Given the description of an element on the screen output the (x, y) to click on. 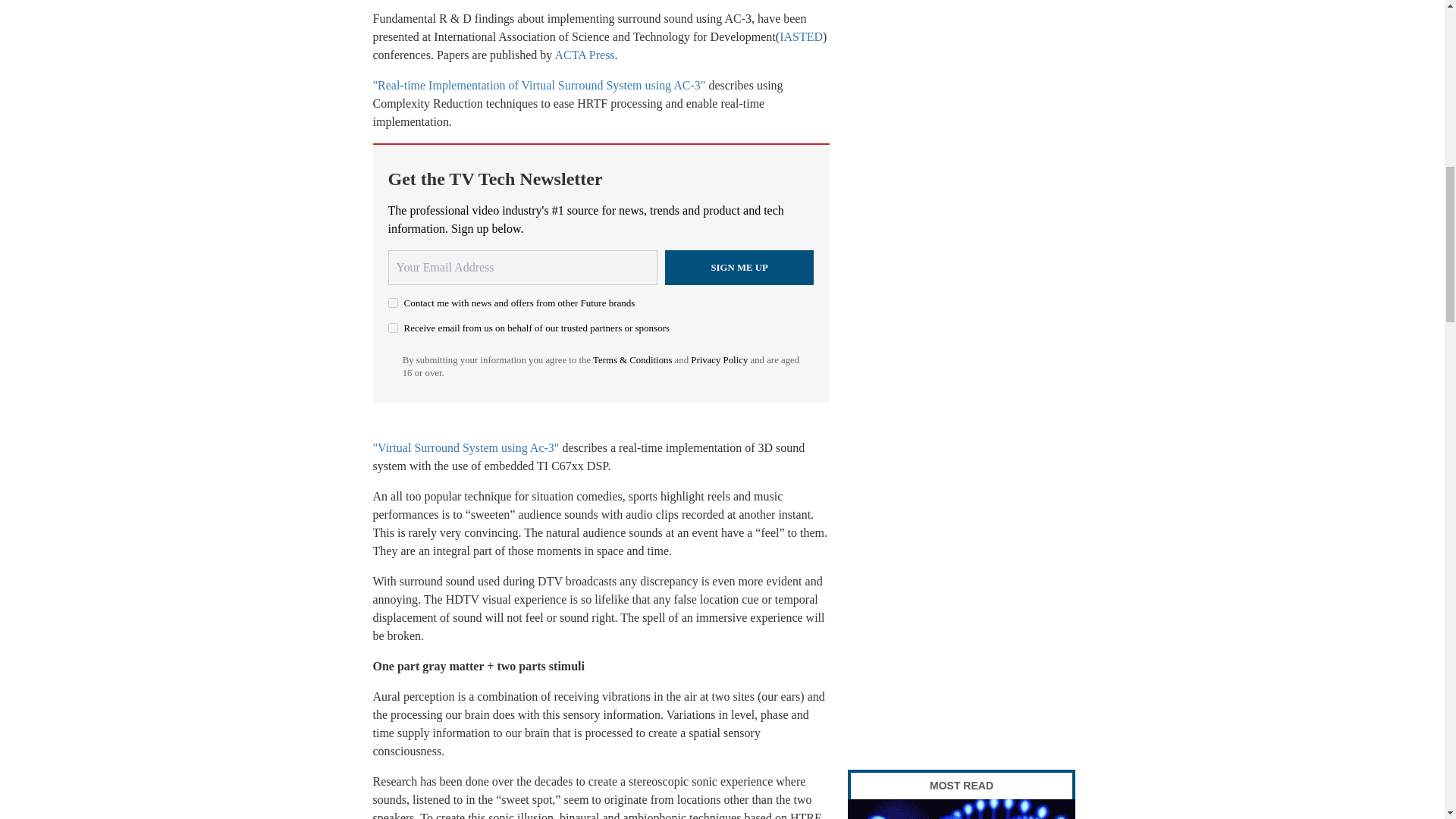
Sign me up (739, 267)
on (392, 327)
TV Tech's Weekly Product Wrap-Up (961, 809)
on (392, 302)
IASTED (800, 36)
